Given the description of an element on the screen output the (x, y) to click on. 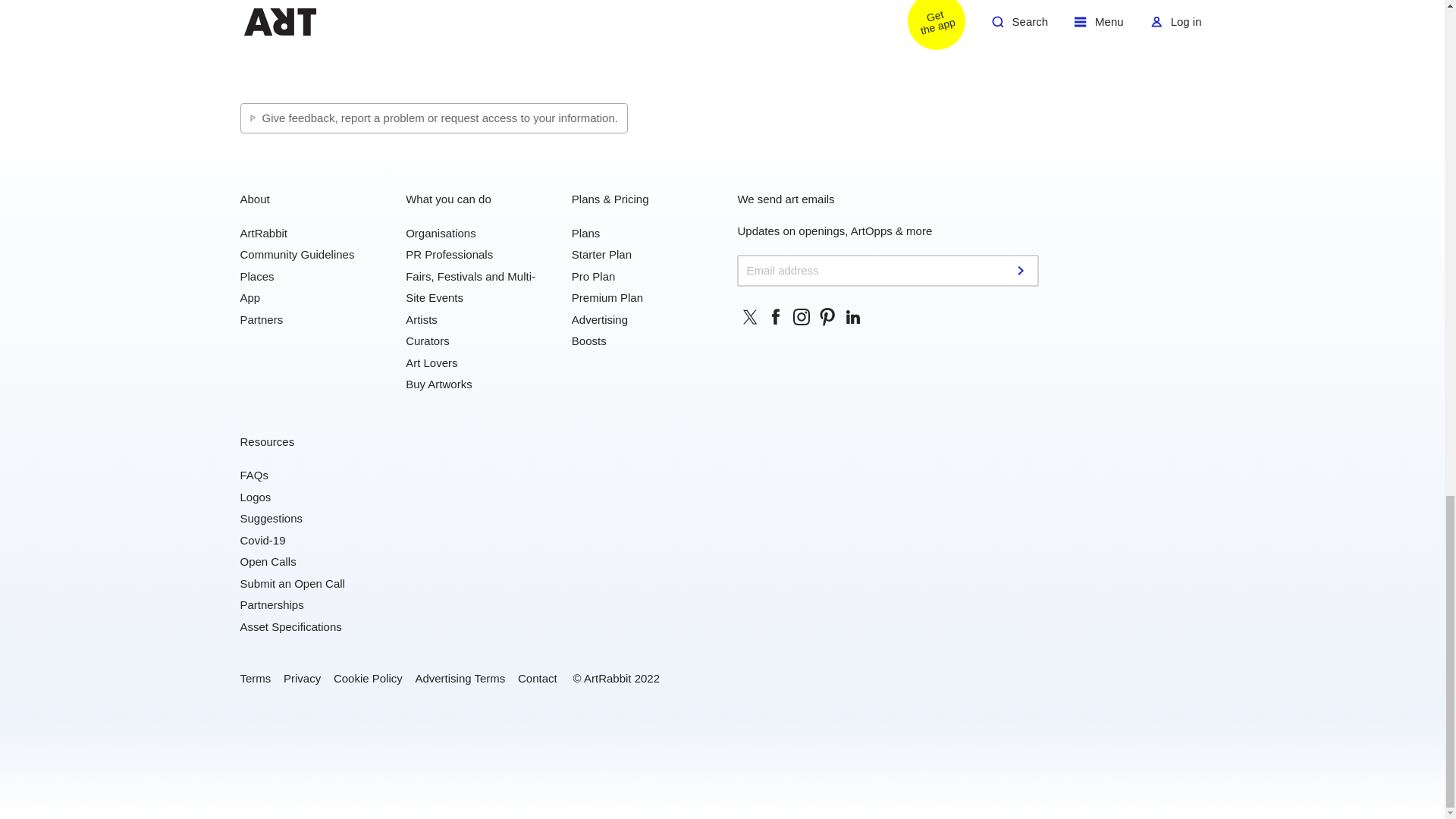
submit (1021, 270)
